Given the description of an element on the screen output the (x, y) to click on. 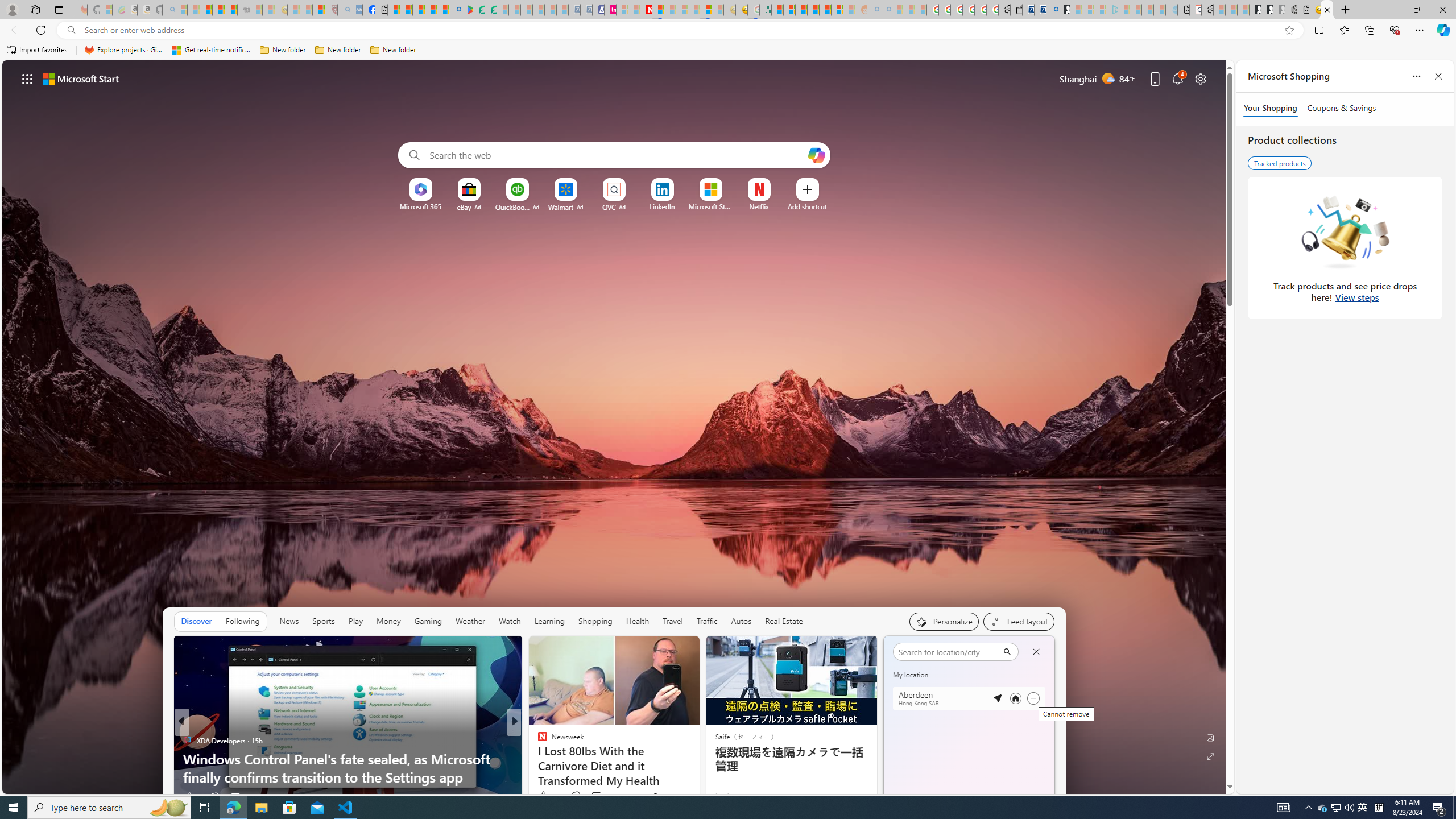
View comments 31 Comment (597, 796)
Mostly sunny (999, 742)
Shopping (595, 621)
